Given the description of an element on the screen output the (x, y) to click on. 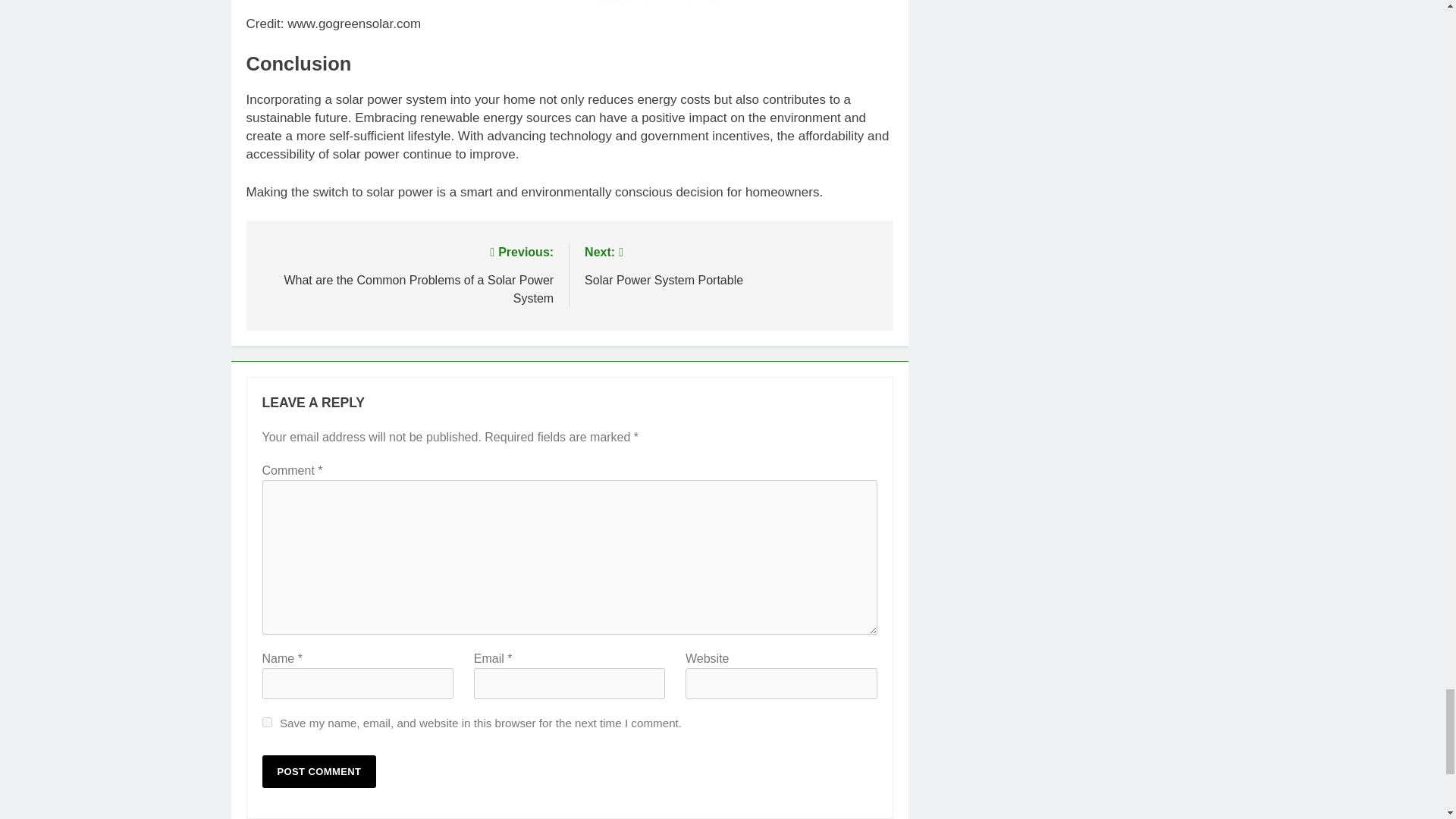
Post Comment (319, 771)
yes (267, 722)
